Given the description of an element on the screen output the (x, y) to click on. 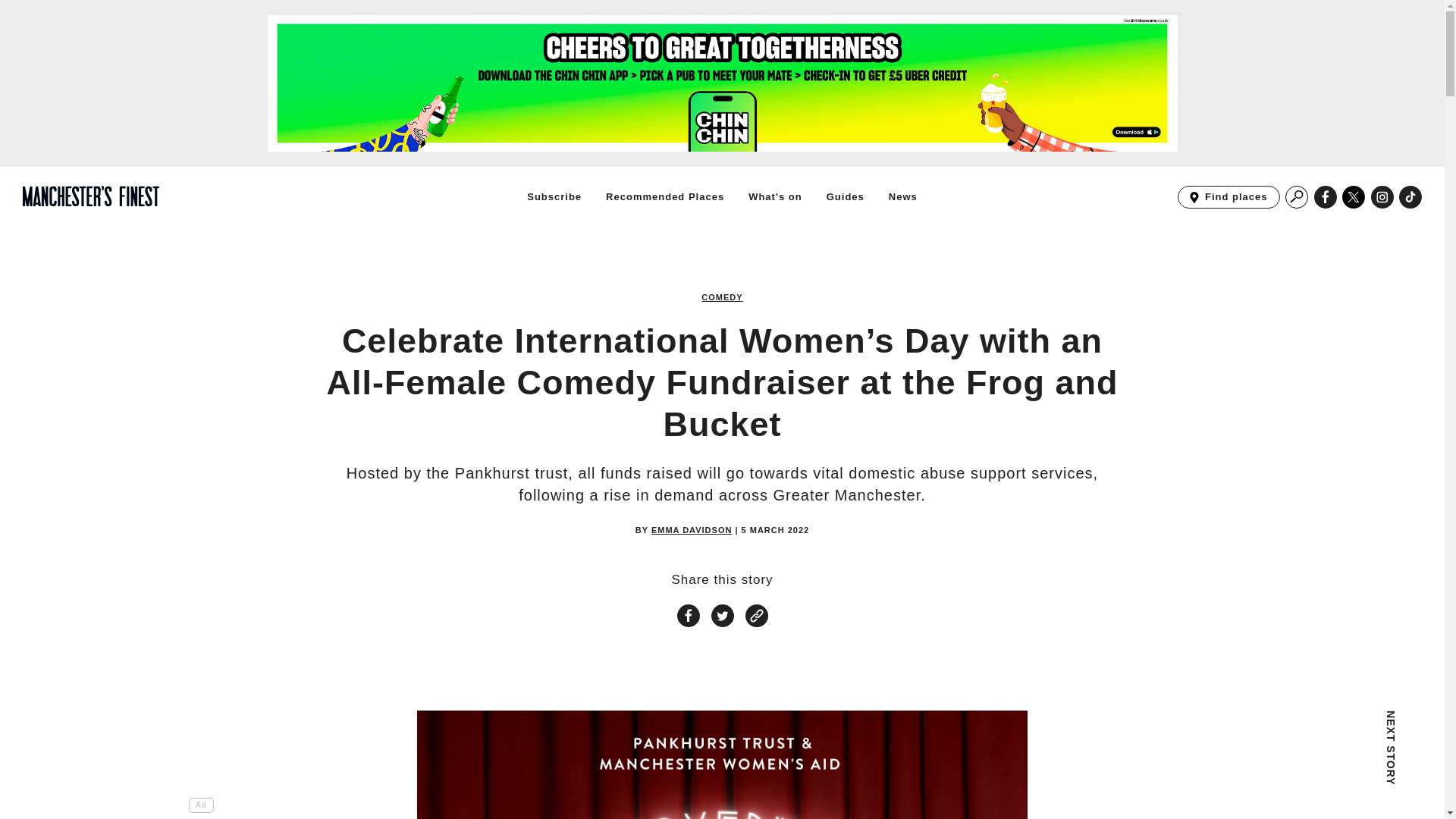
Go to Manchester's Finest Instagram profile (1382, 196)
Recommended Places (664, 196)
NEXT STORY (1297, 764)
News (902, 196)
Guides (845, 196)
EMMA DAVIDSON (691, 530)
Go to Manchester's Finest TikTok profile (1228, 196)
Go to Manchester's Finest X profile (1410, 196)
What's on (1353, 196)
